Given the description of an element on the screen output the (x, y) to click on. 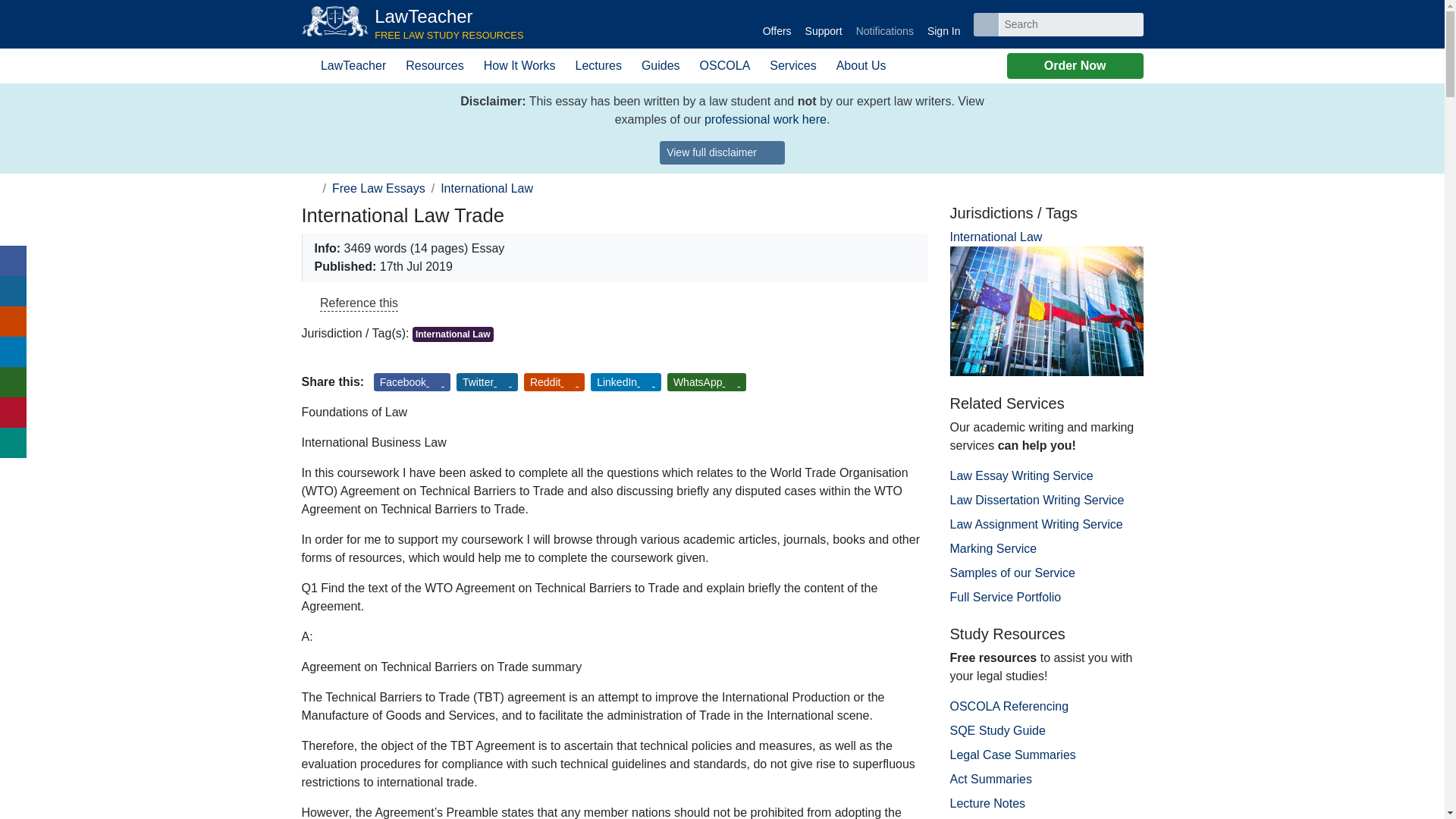
homepage link (309, 187)
Notifications (884, 23)
Support (822, 23)
Sign In (412, 23)
Go to the LawTeacher homepage (944, 23)
Offers (412, 23)
samples of our writing service (776, 23)
View full disclaimer (765, 119)
